Given the description of an element on the screen output the (x, y) to click on. 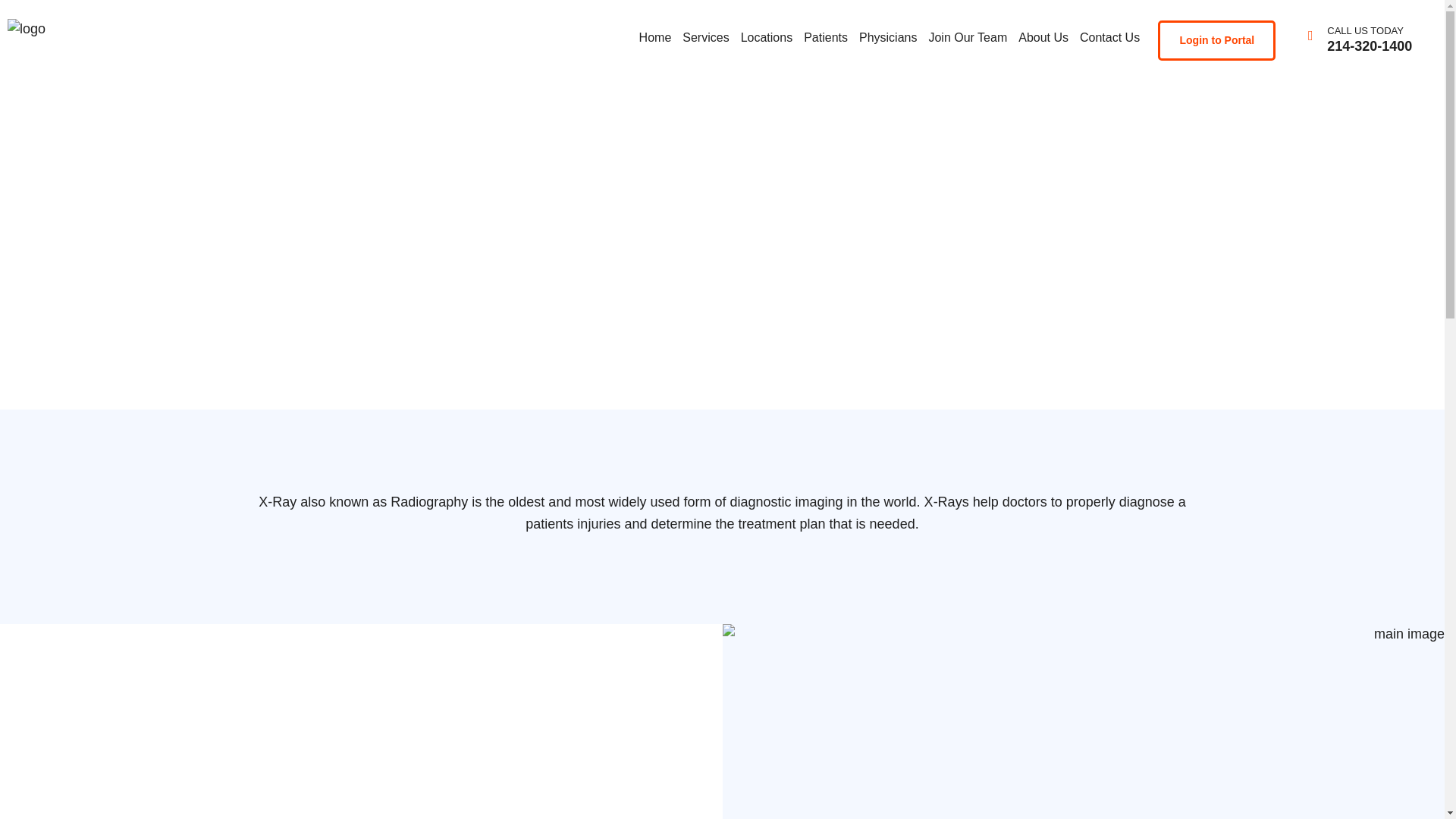
Join Our Team (967, 37)
Physicians (888, 37)
Contact Us (1108, 37)
214-320-1400 (1369, 46)
About Us (1042, 37)
Login to Portal (1216, 40)
Locations (766, 37)
